Given the description of an element on the screen output the (x, y) to click on. 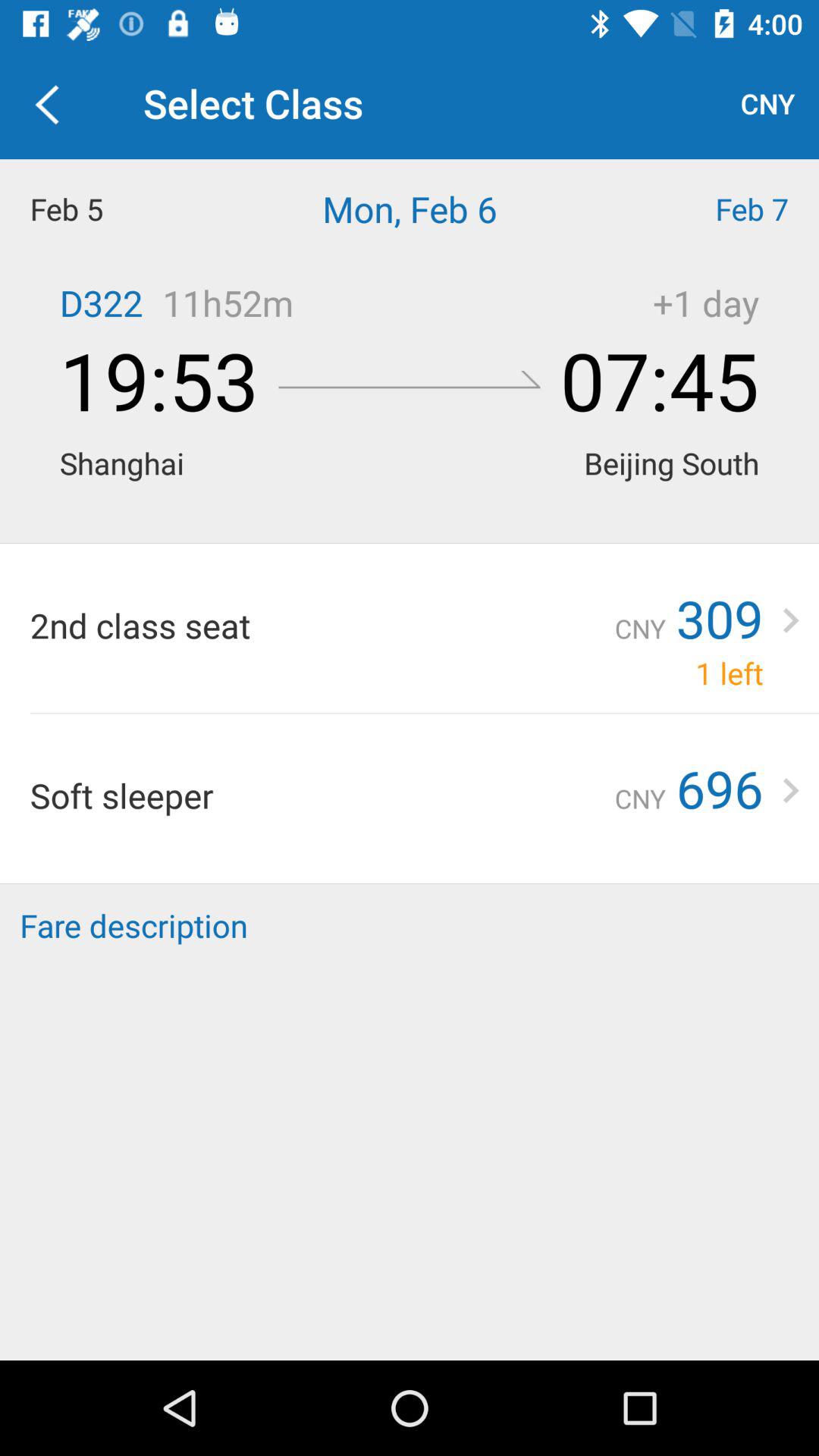
turn on the icon to the left of the mon, feb 6 icon (102, 208)
